Given the description of an element on the screen output the (x, y) to click on. 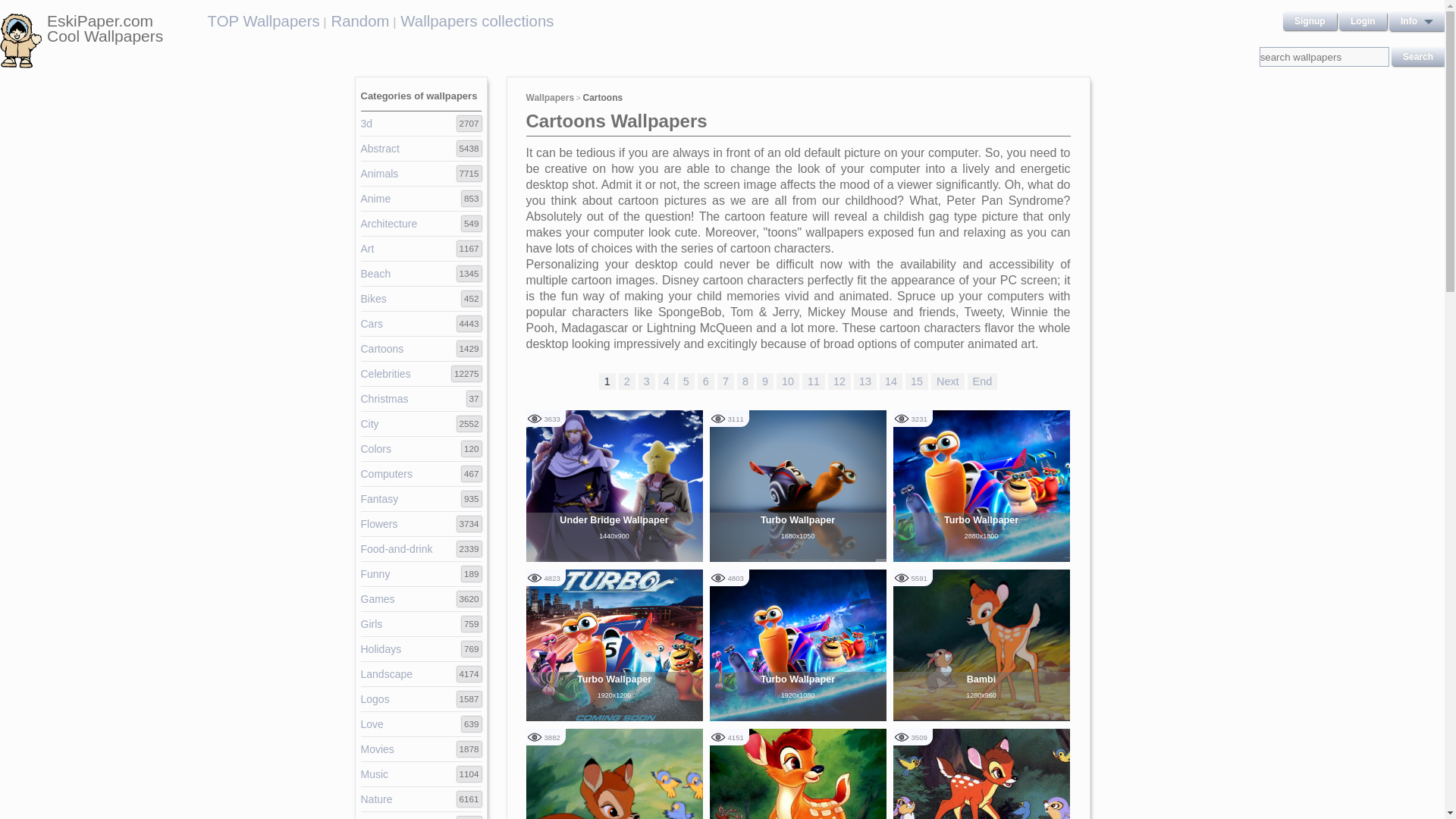
Nature (377, 798)
Random (359, 21)
TOP Wallpapers (264, 21)
count of posts (470, 473)
Computers (386, 473)
Funny (375, 573)
Wallpapers collections (476, 21)
count of posts (474, 398)
Holidays (381, 648)
count of posts (469, 548)
count of posts (469, 348)
count of posts (469, 273)
Cartoons (382, 348)
count of posts (470, 498)
Celebrities (385, 373)
